Given the description of an element on the screen output the (x, y) to click on. 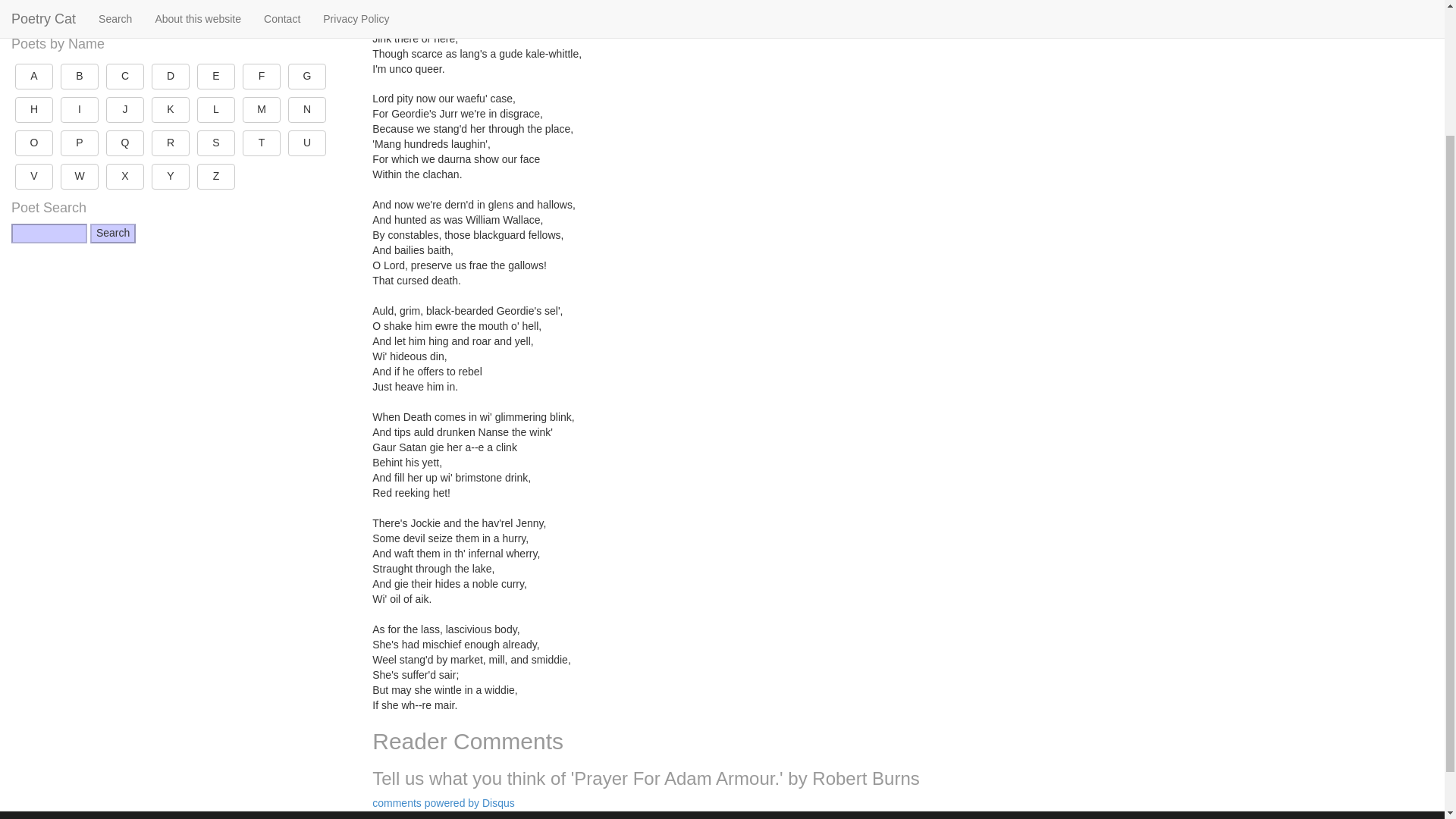
T (262, 143)
C (125, 76)
A (33, 76)
N (307, 109)
E (215, 76)
I (80, 109)
P (80, 143)
J (125, 109)
Search (112, 233)
F (262, 76)
